Given the description of an element on the screen output the (x, y) to click on. 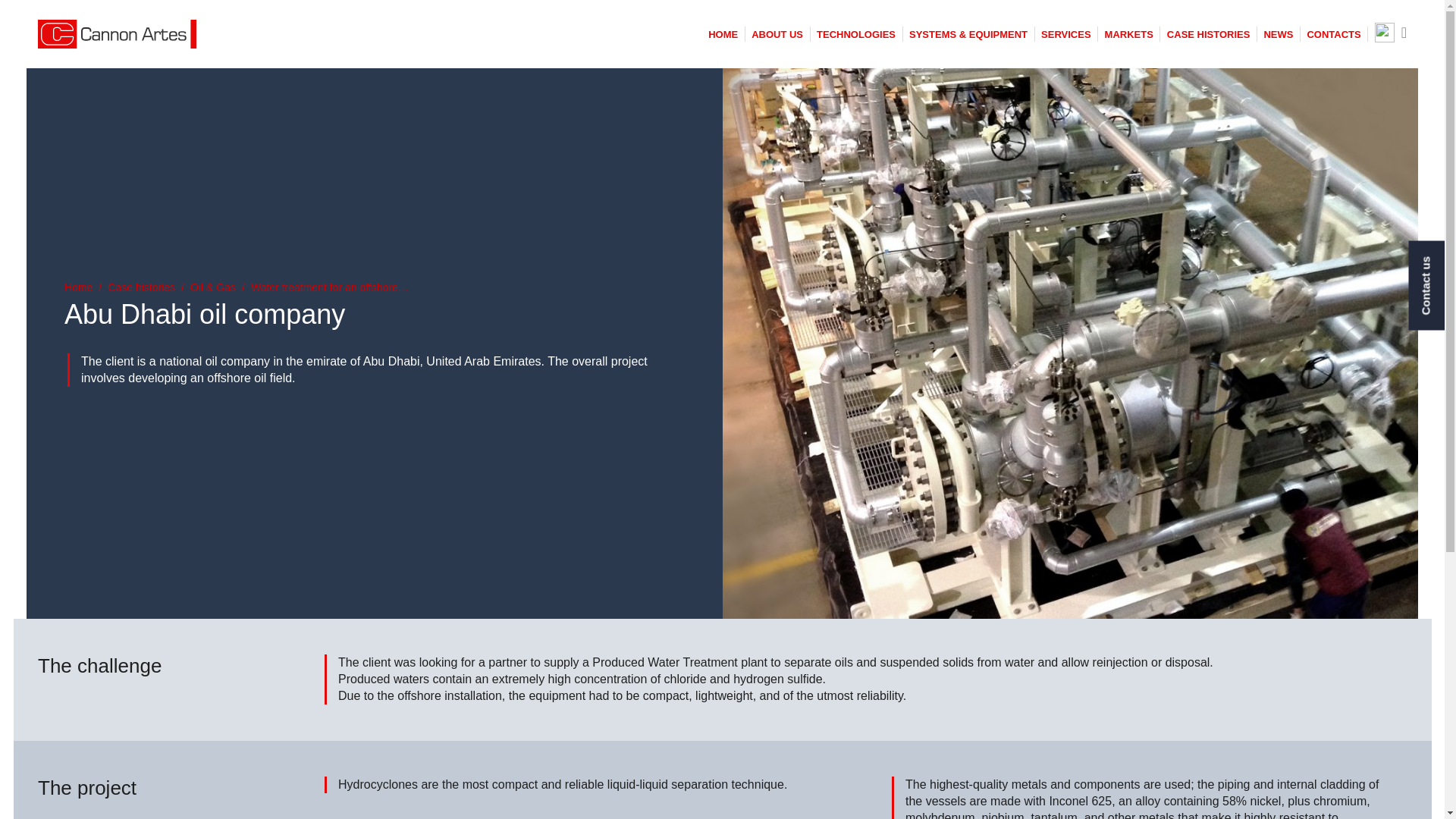
ABOUT US (777, 33)
Case histories (140, 287)
TECHNOLOGIES (855, 33)
Go! (21, 12)
SERVICES (1066, 33)
CONTACTS (1332, 33)
CASE HISTORIES (1208, 33)
MARKETS (1129, 33)
Home (78, 287)
